Given the description of an element on the screen output the (x, y) to click on. 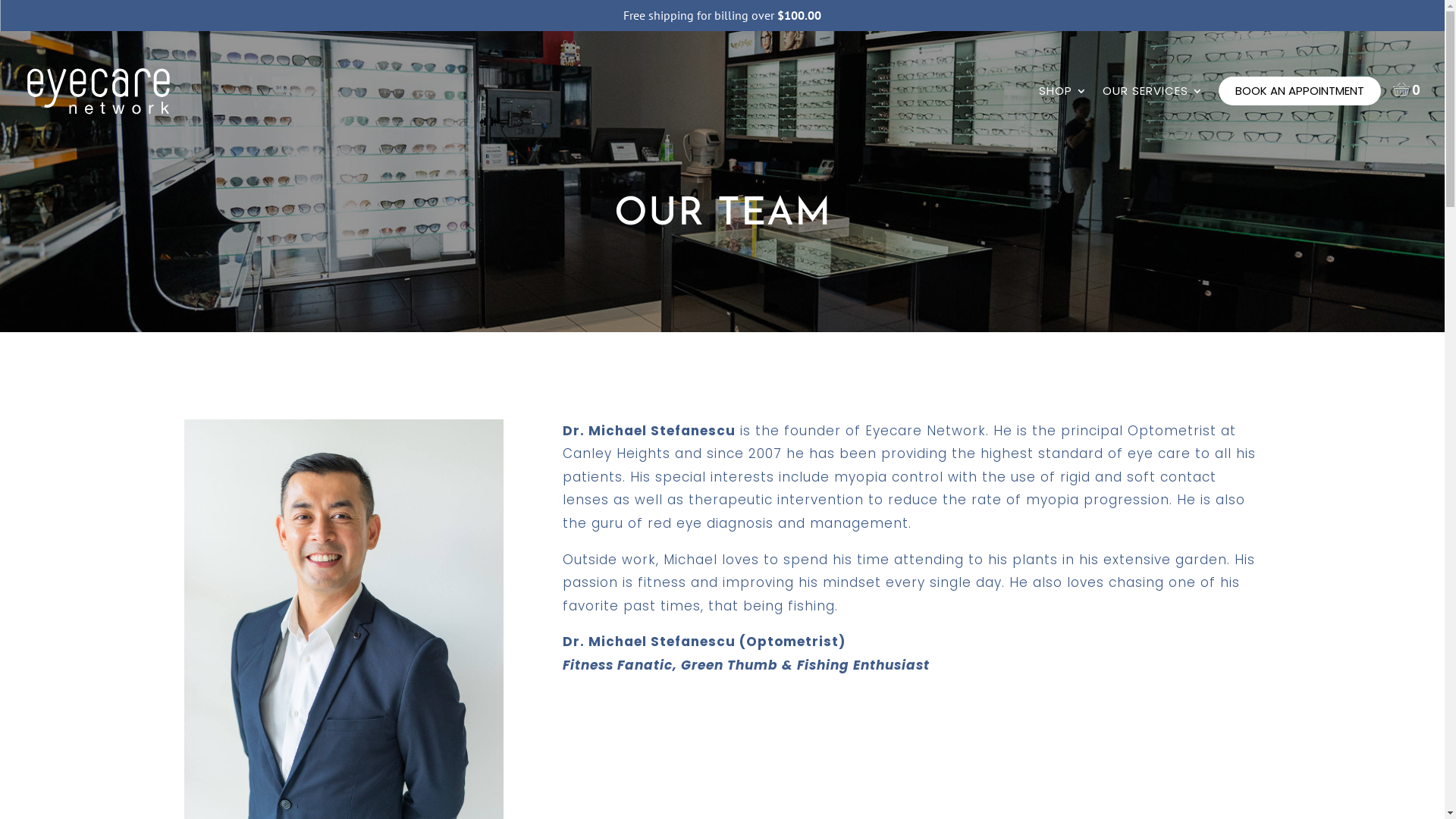
OUR SERVICES Element type: text (1152, 106)
0 Element type: text (1406, 88)
SHOP Element type: text (1062, 106)
BOOK AN APPOINTMENT Element type: text (1299, 90)
